Given the description of an element on the screen output the (x, y) to click on. 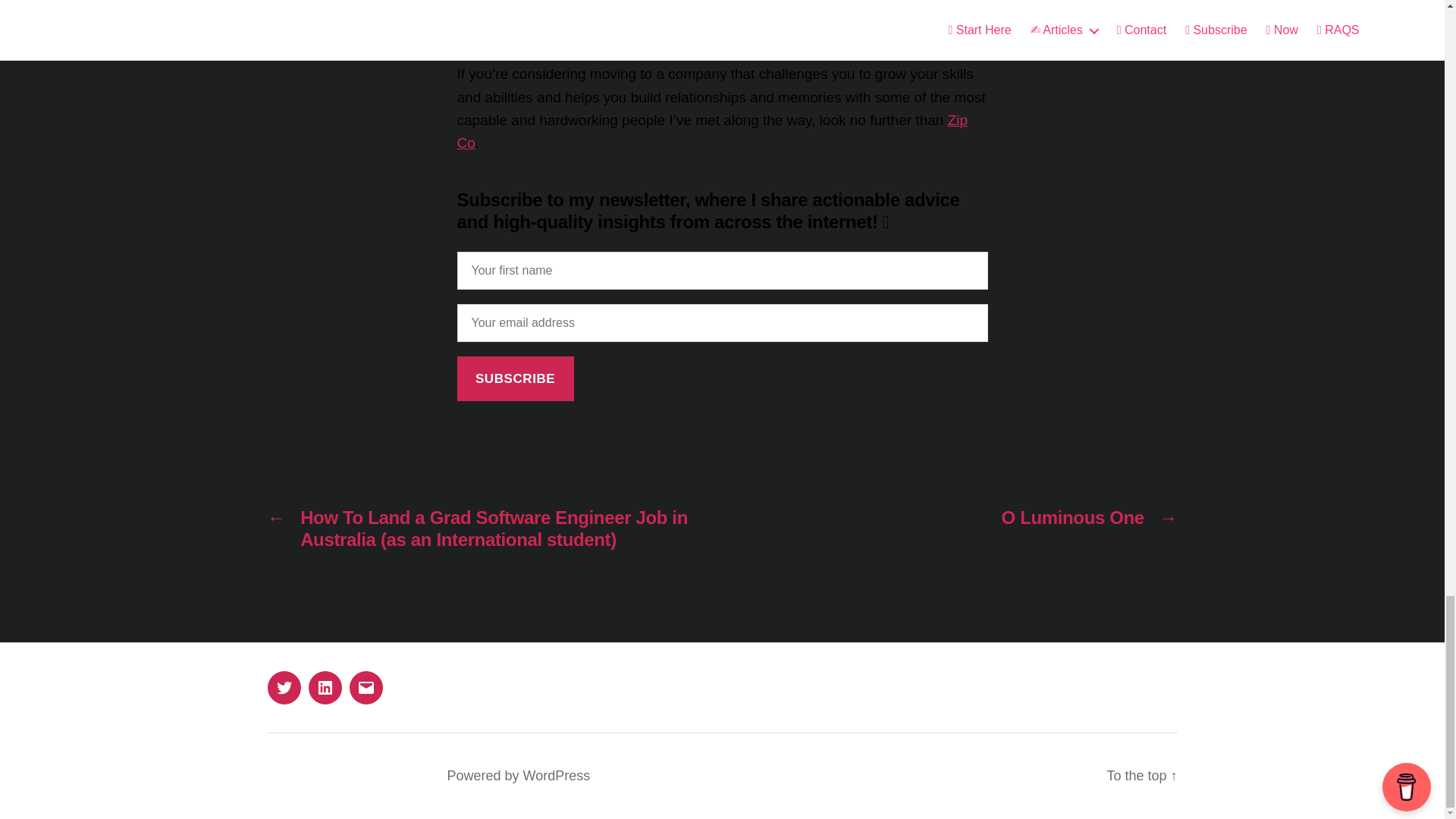
Subscribe (515, 378)
